Given the description of an element on the screen output the (x, y) to click on. 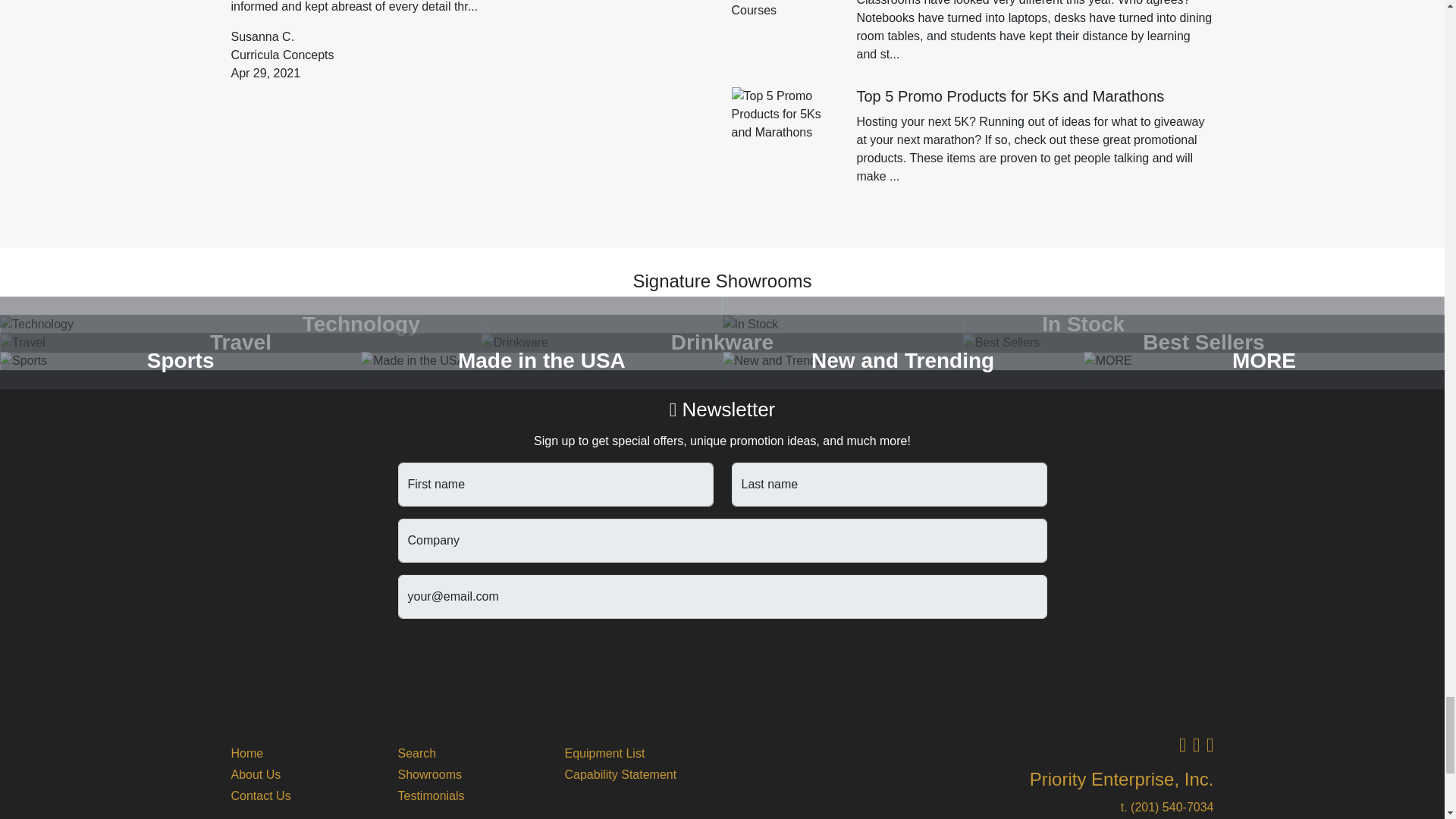
Made in the USA (541, 361)
Drinkware (721, 342)
New and Trending (902, 361)
Travel (240, 342)
Sports (180, 361)
Technology (361, 324)
Subscribe (721, 645)
